Given the description of an element on the screen output the (x, y) to click on. 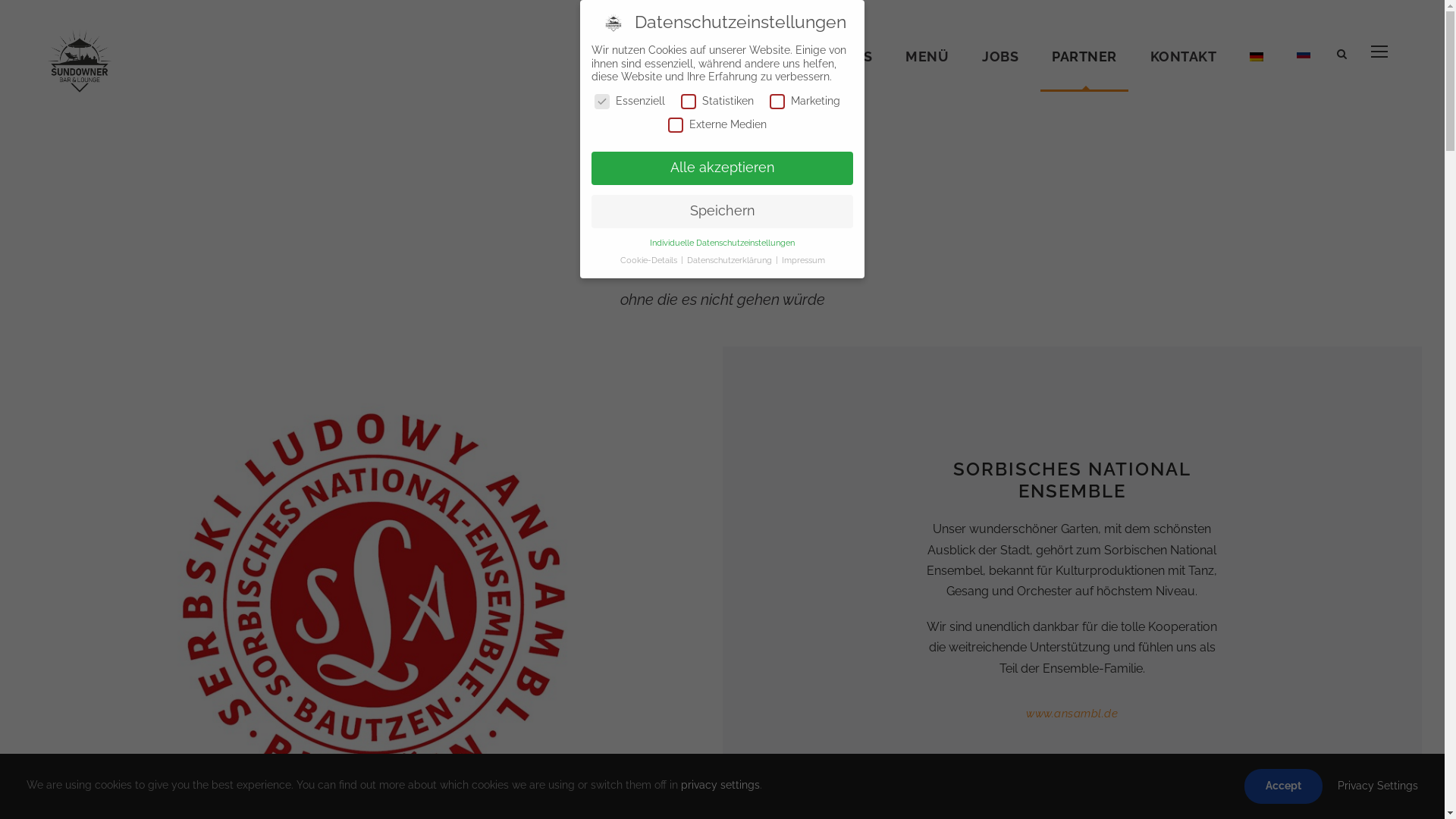
Cookie-Details Element type: text (649, 259)
KONTAKT Element type: text (1182, 68)
www.ansambl.de Element type: text (1071, 713)
Impressum Element type: text (802, 259)
Privacy Settings Element type: text (1377, 785)
Speichern Element type: text (722, 211)
NEWS Element type: text (850, 68)
JOBS Element type: text (1000, 68)
2018-08_sundowner-bautzen_the-logo_2c-black_vFinal Element type: hover (79, 60)
Individuelle Datenschutzeinstellungen Element type: text (721, 242)
PARTNER Element type: text (1084, 68)
privacy settings Element type: text (719, 784)
Alle akzeptieren Element type: text (722, 168)
Accept Element type: text (1283, 785)
